Given the description of an element on the screen output the (x, y) to click on. 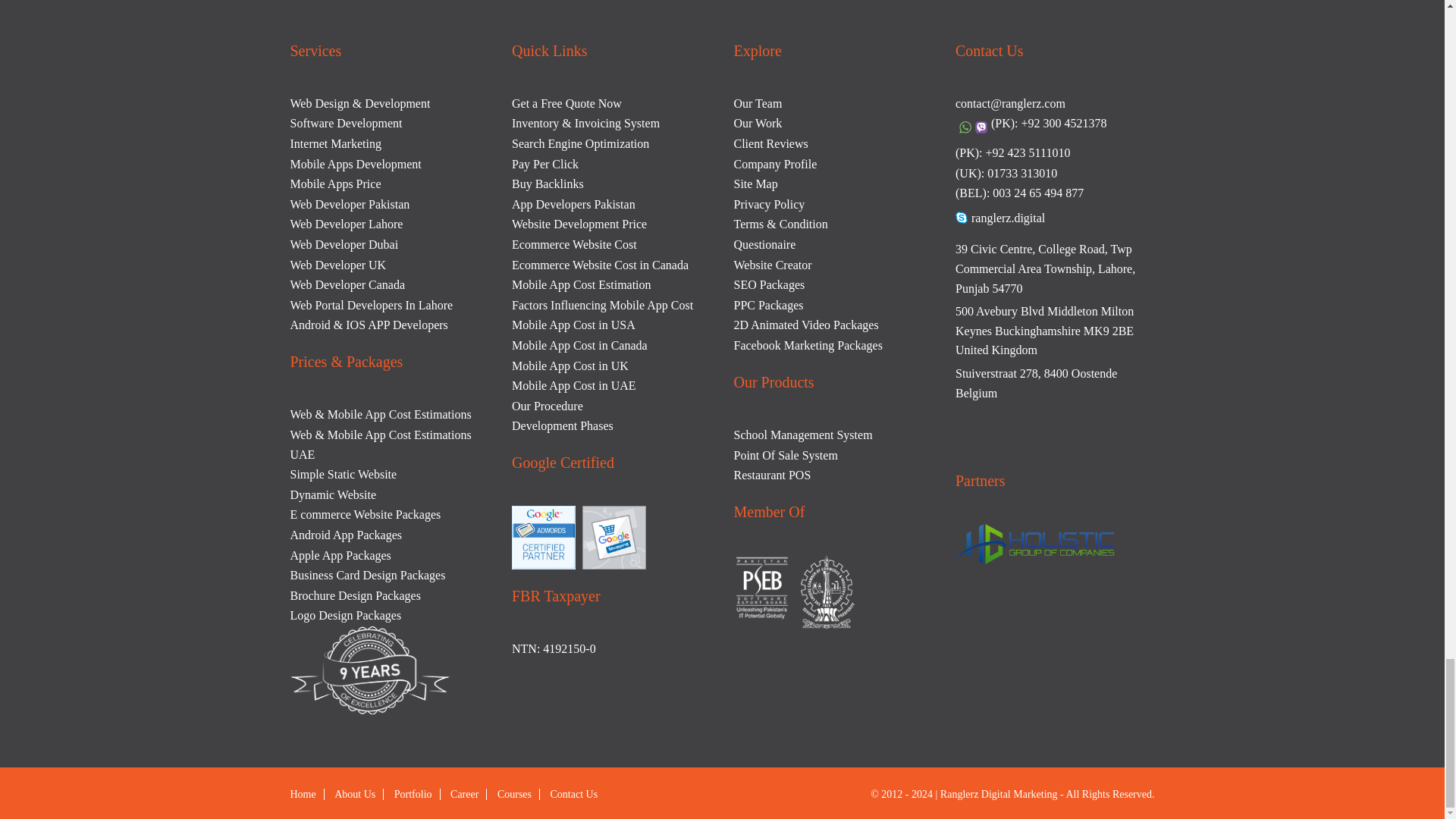
Web Developer Canada (346, 284)
Software Development (345, 123)
Internet Marketing (334, 143)
Web Portal Developers In Lahore (370, 305)
Web Developer Lahore (346, 223)
Mobile Apps Development (354, 164)
Web Developer UK (337, 264)
Web Developer Pakistan (349, 204)
Mobile Apps Price (334, 183)
Web Developer Dubai (343, 244)
